Given the description of an element on the screen output the (x, y) to click on. 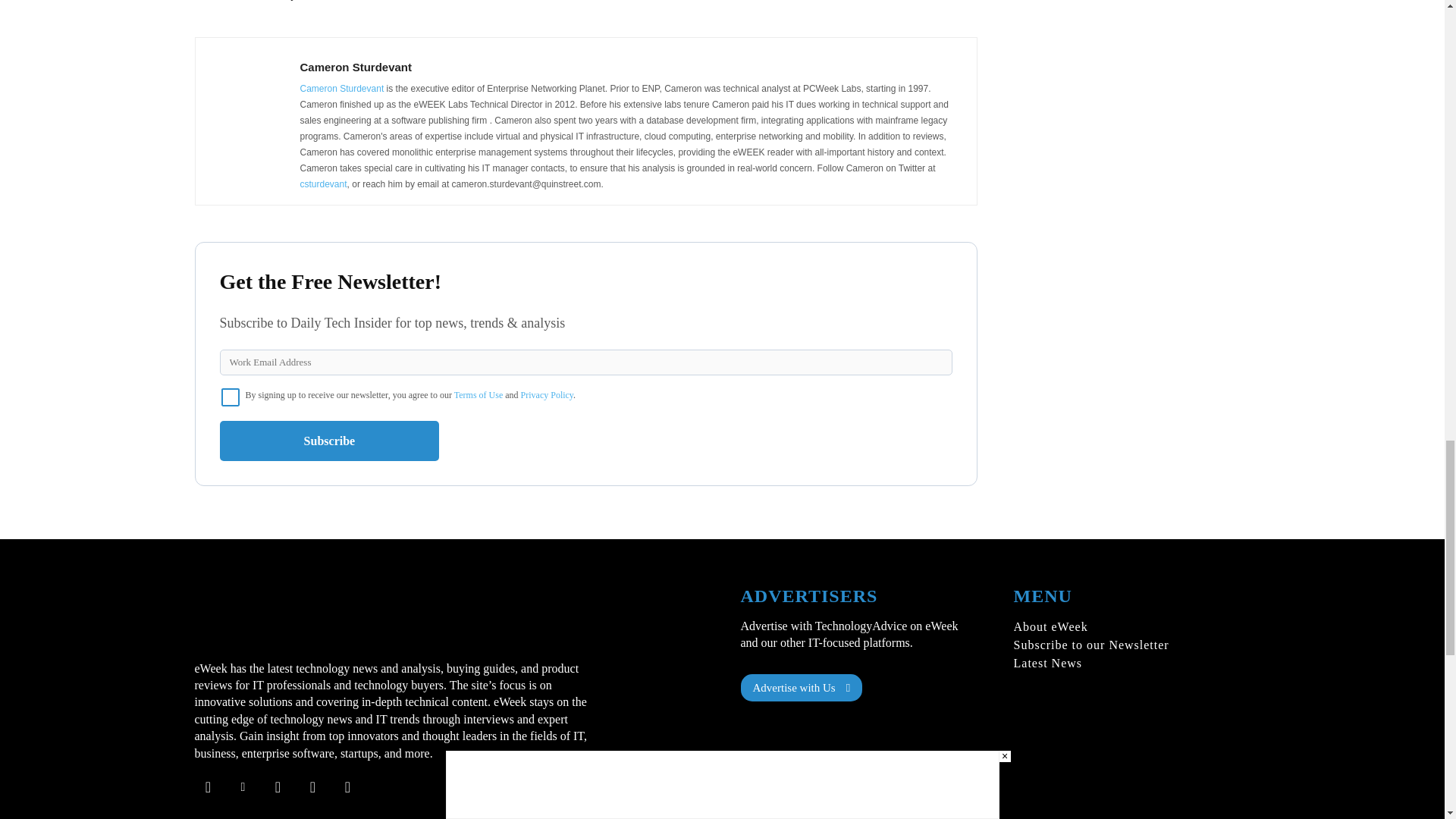
on (230, 396)
